Given the description of an element on the screen output the (x, y) to click on. 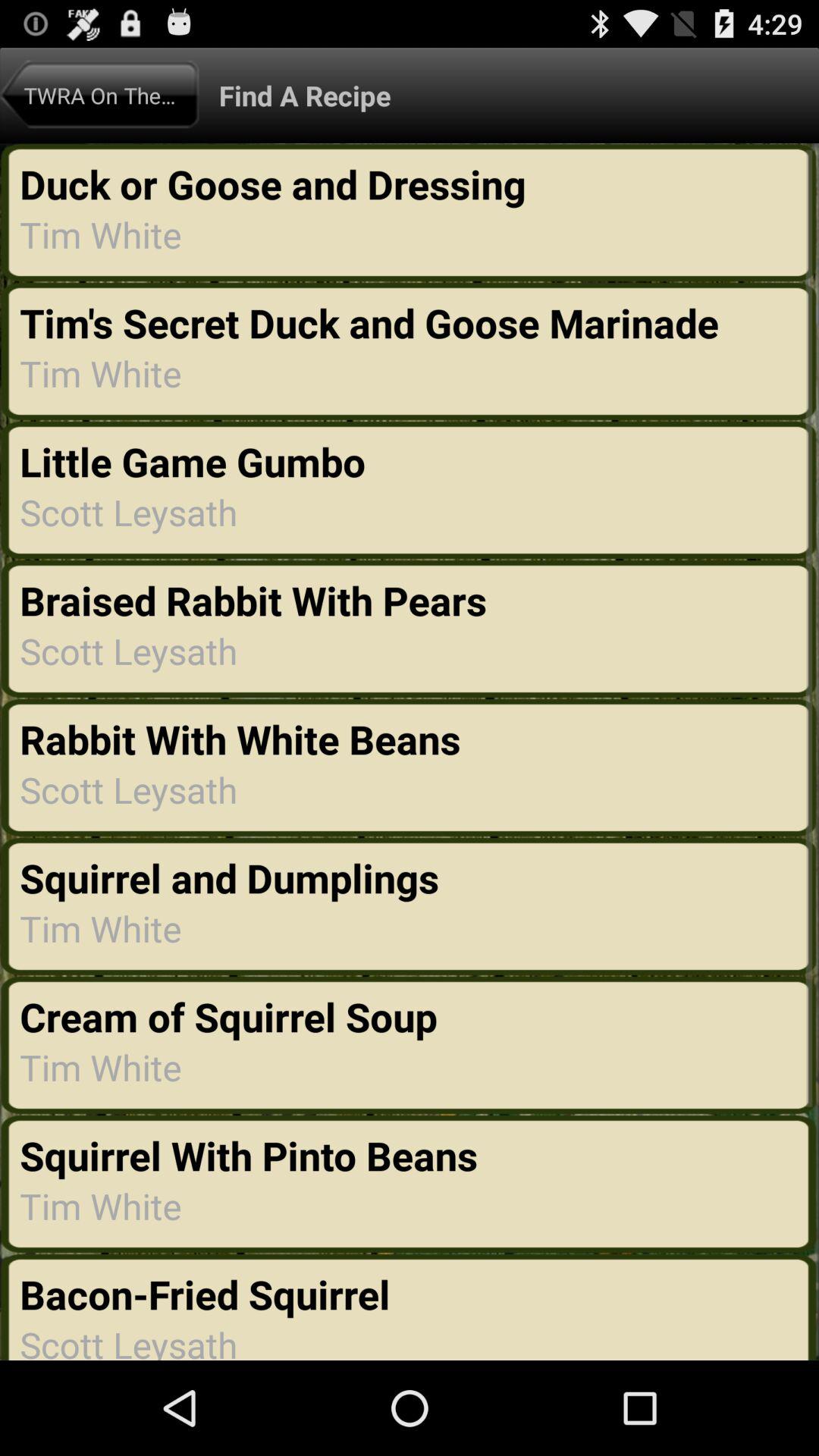
select squirrel with pinto (248, 1154)
